Given the description of an element on the screen output the (x, y) to click on. 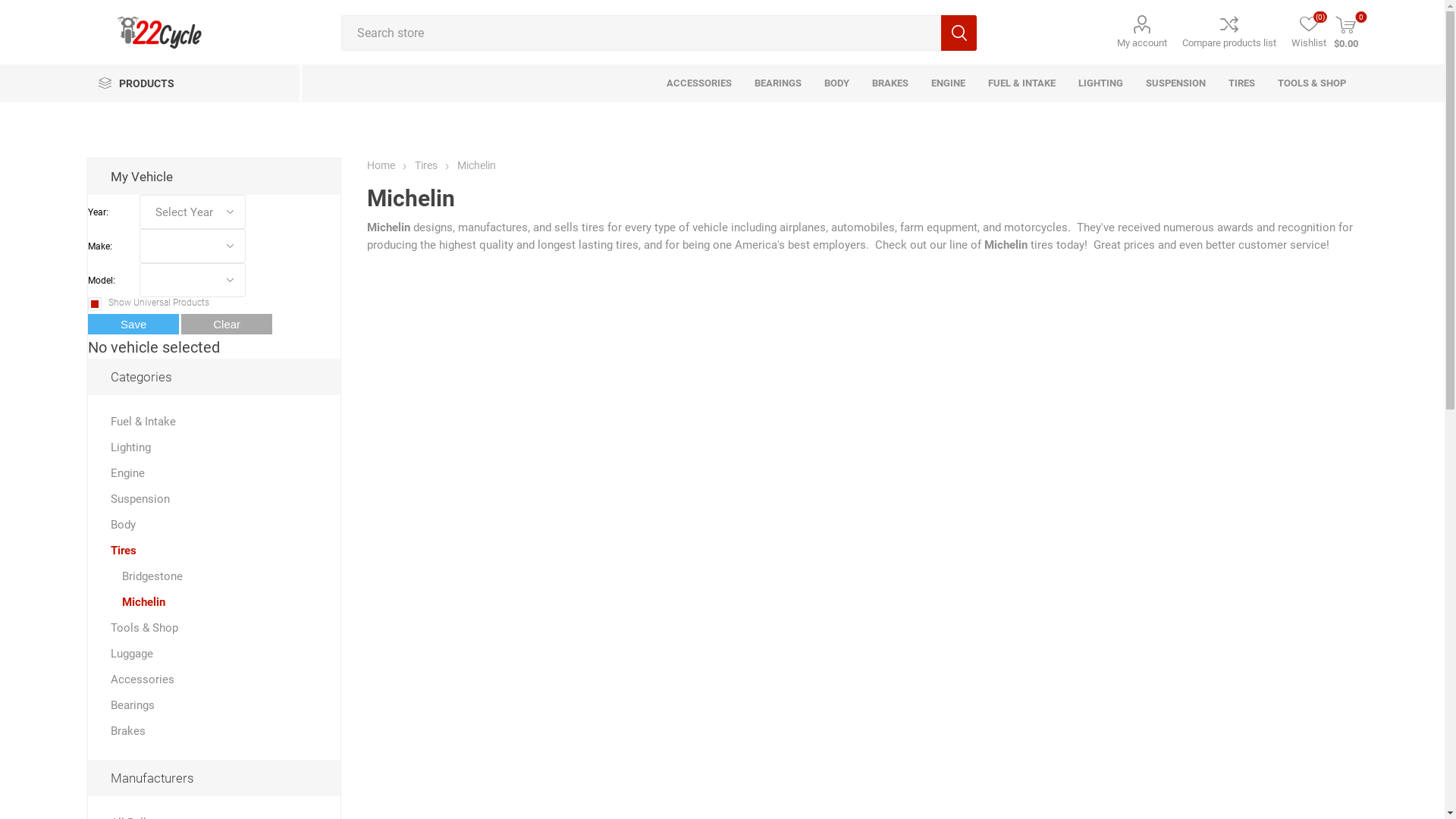
TIRES Element type: text (1241, 83)
TOOLS & SHOP Element type: text (1311, 83)
Fuel & Intake Element type: text (142, 421)
SUSPENSION Element type: text (1175, 83)
FUEL & INTAKE Element type: text (1021, 83)
Save Element type: text (132, 323)
22Cycle.com Element type: hover (159, 32)
Tires Element type: text (123, 550)
ENGINE Element type: text (947, 83)
Michelin Element type: text (143, 602)
Accessories Element type: text (142, 679)
Tools & Shop Element type: text (144, 627)
ACCESSORIES Element type: text (699, 83)
Luggage Element type: text (131, 653)
Lighting Element type: text (130, 447)
BEARINGS Element type: text (777, 83)
Tires Element type: text (426, 165)
Home Element type: text (381, 165)
BODY Element type: text (836, 83)
LIGHTING Element type: text (1100, 83)
Compare products list Element type: text (1229, 31)
Bearings Element type: text (132, 705)
0
$0.00 Element type: text (1345, 32)
Body Element type: text (122, 524)
BRAKES Element type: text (889, 83)
Brakes Element type: text (127, 730)
Wishlist
(0) Element type: text (1308, 31)
Bridgestone Element type: text (152, 576)
Suspension Element type: text (139, 498)
My account Element type: text (1142, 31)
Search Element type: text (958, 32)
Engine Element type: text (127, 473)
